Given the description of an element on the screen output the (x, y) to click on. 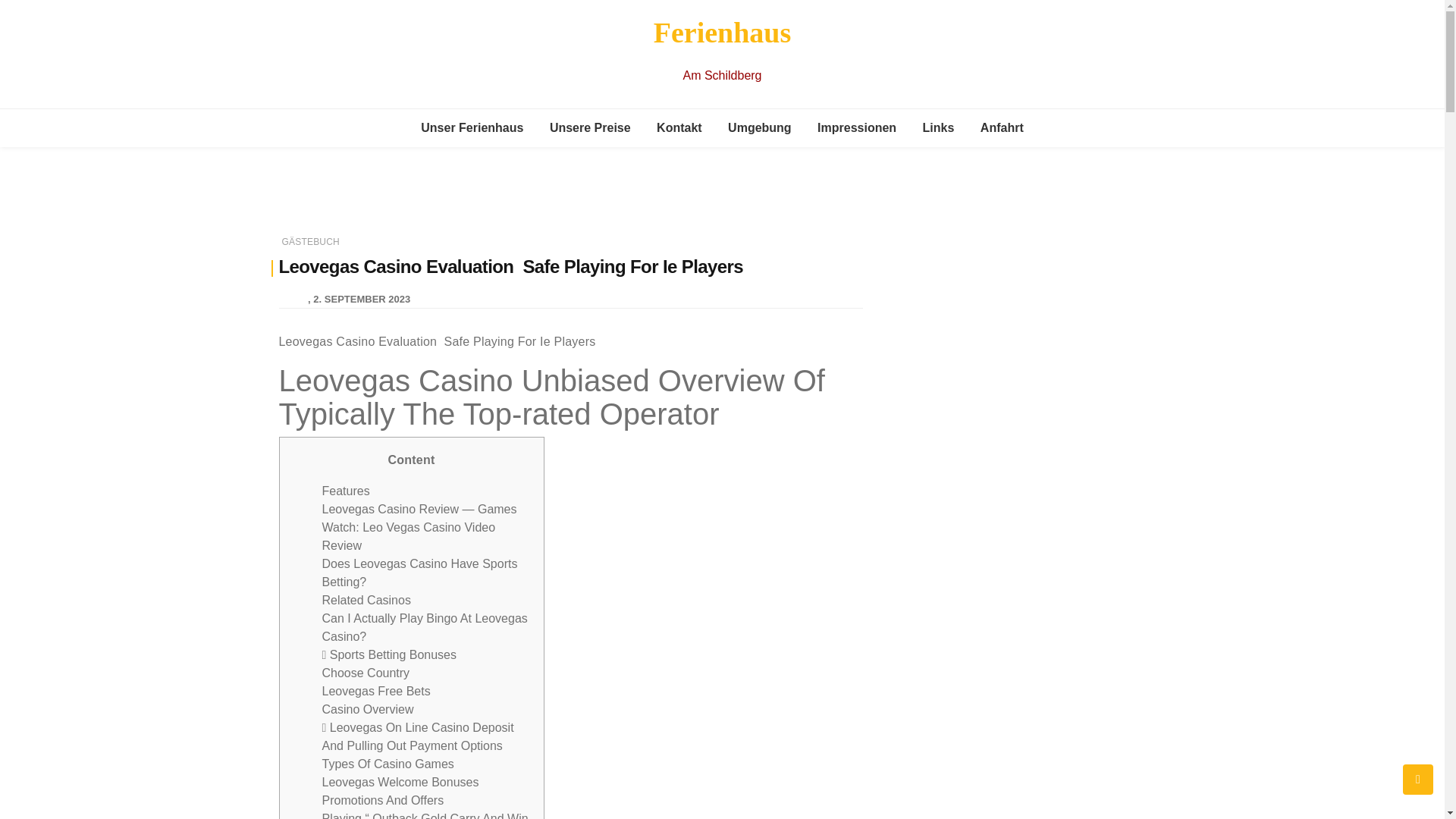
Leovegas Welcome Bonuses (400, 781)
Umgebung (759, 127)
Watch: Leo Vegas Casino Video Review (408, 536)
Unsere Preise (590, 127)
Can I Actually Play Bingo At Leovegas Casino? (424, 626)
Unser Ferienhaus (471, 127)
Promotions And Offers (382, 799)
Features (345, 490)
Anfahrt (1002, 127)
Casino Overview (367, 708)
